Given the description of an element on the screen output the (x, y) to click on. 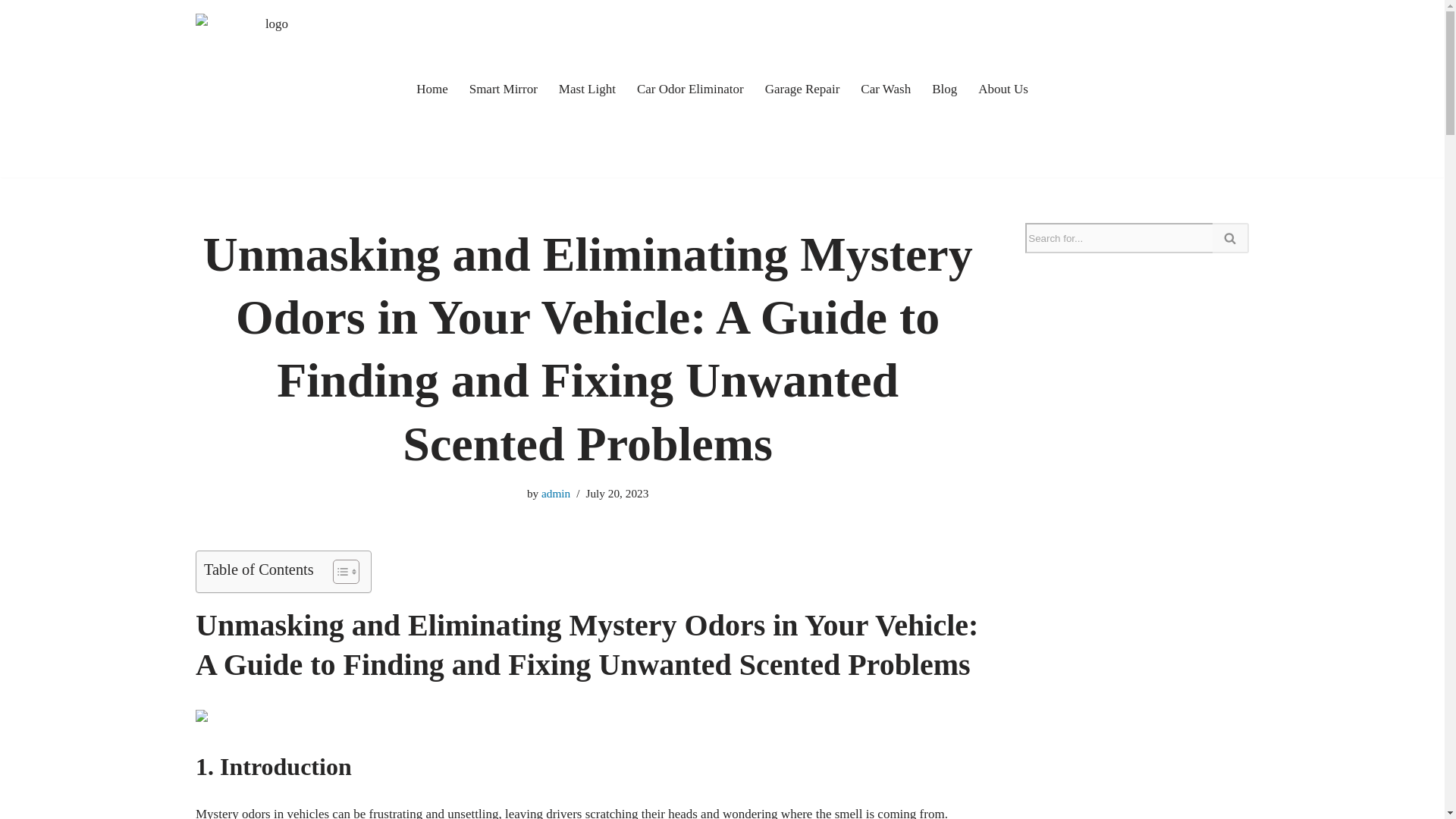
Garage Repair (802, 88)
Home (432, 88)
Car Wash (885, 88)
Mast Light (587, 88)
Car Odor Eliminator (690, 88)
Posts by admin (555, 492)
About Us (1002, 88)
Skip to content (11, 31)
Blog (943, 88)
admin (555, 492)
